Given the description of an element on the screen output the (x, y) to click on. 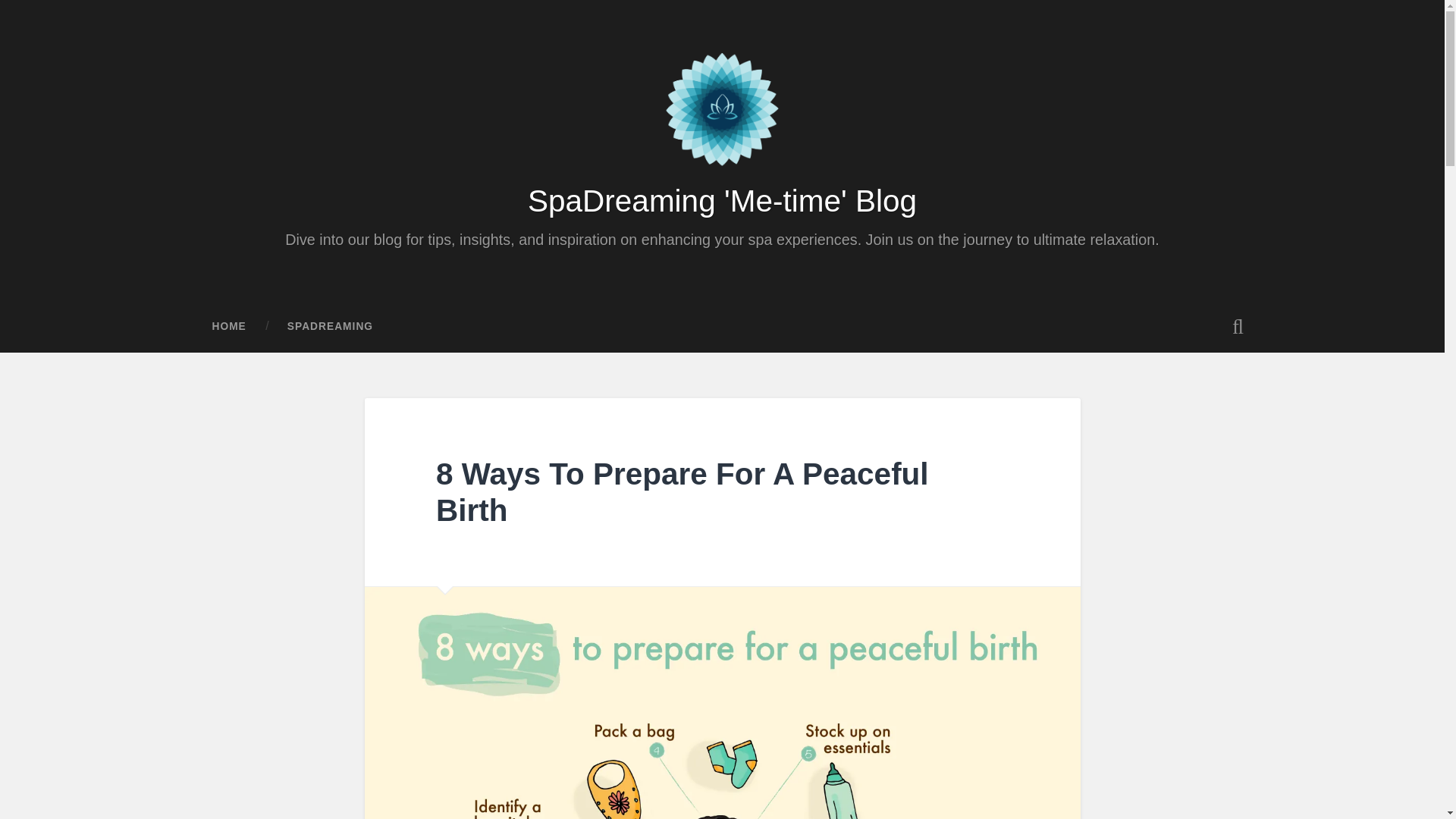
8 Ways To Prepare For A Peaceful Birth (681, 492)
SPADREAMING (329, 326)
Search (21, 60)
HOME (228, 326)
SpaDreaming 'Me-time' Blog (722, 200)
Skip to content (45, 7)
